Given the description of an element on the screen output the (x, y) to click on. 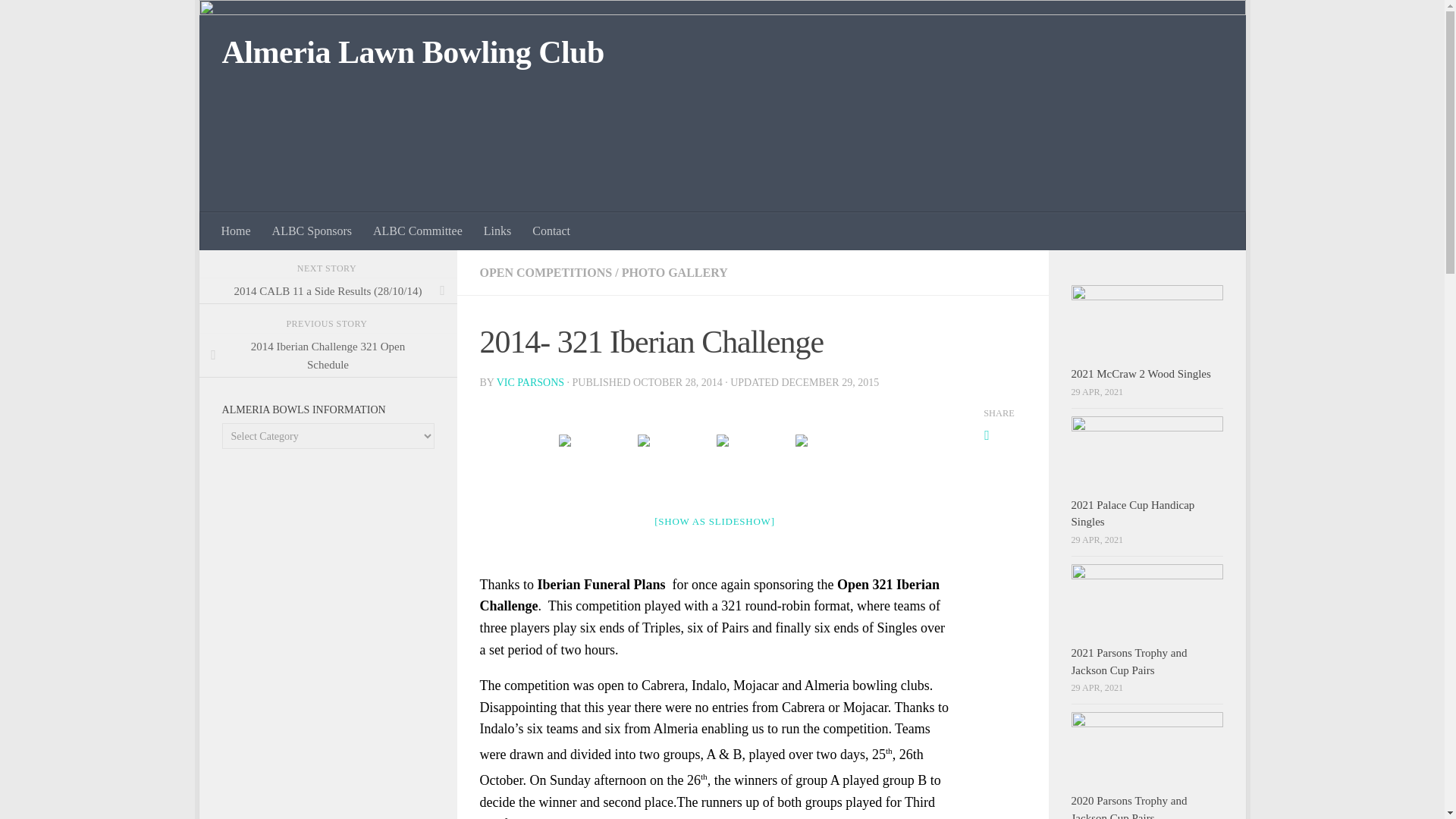
PHOTO GALLERY (674, 272)
ALBC Sponsors (312, 231)
Links (497, 231)
VIC PARSONS (530, 382)
Contact (550, 231)
Posts by Vic Parsons (530, 382)
Skip to content (258, 20)
OPEN COMPETITIONS (545, 272)
Almeria Lawn Bowling Club (412, 53)
Home (236, 231)
ALBC Committee (417, 231)
